Given the description of an element on the screen output the (x, y) to click on. 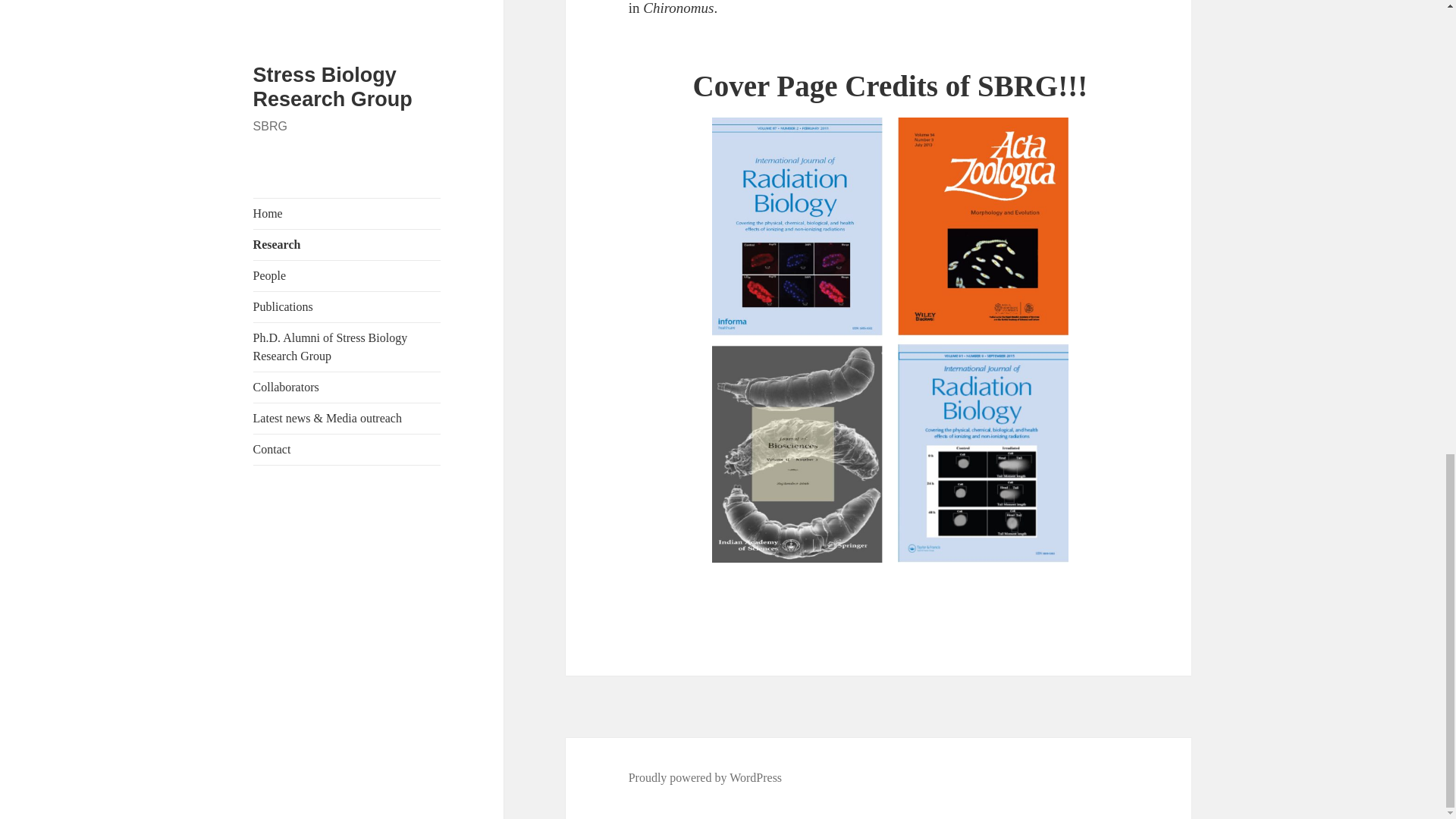
Proudly powered by WordPress (704, 777)
